Given the description of an element on the screen output the (x, y) to click on. 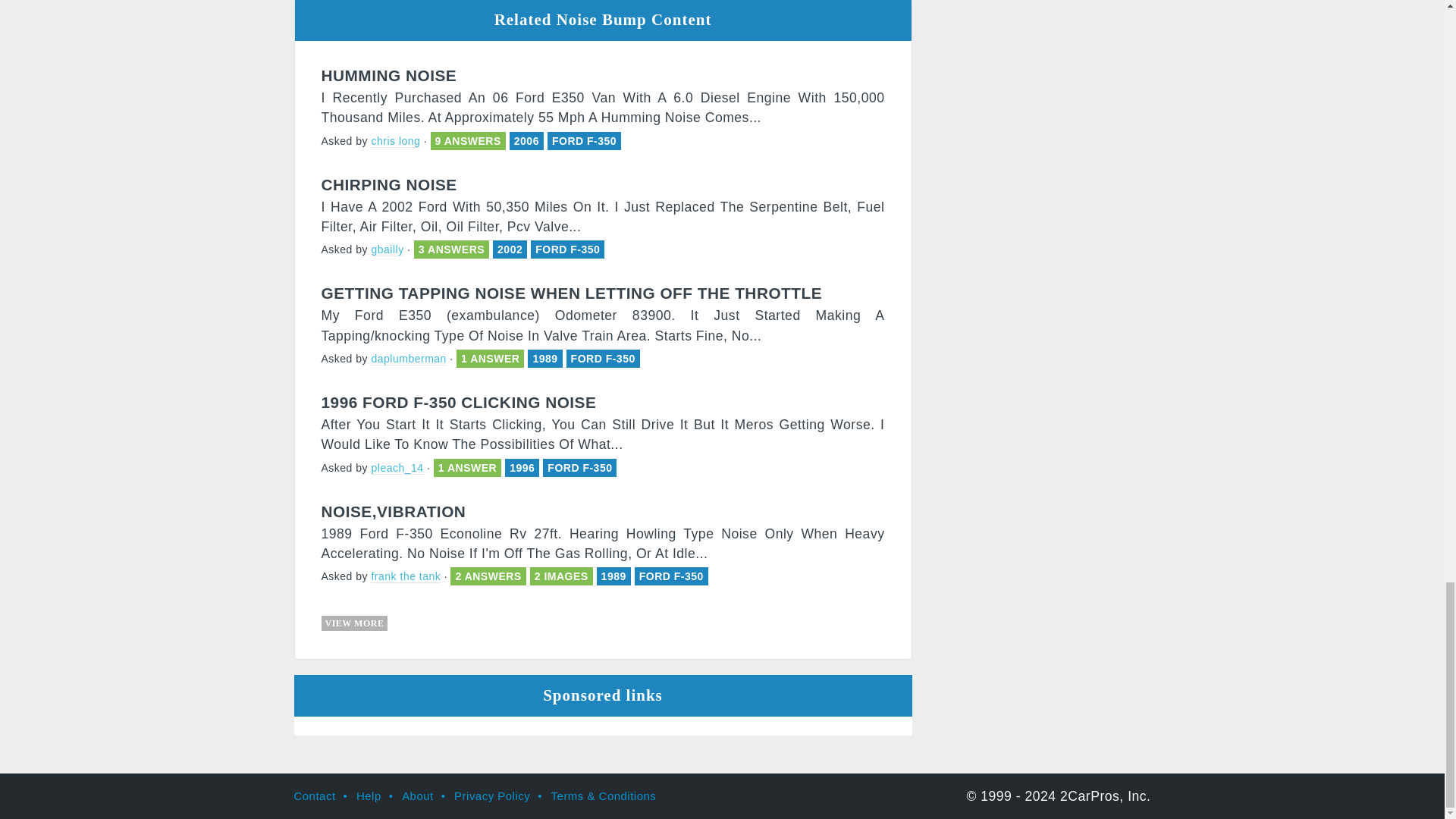
daplumberman (408, 358)
chris long (395, 141)
FORD F-350 (602, 358)
gbailly (387, 249)
FORD F-350 (583, 141)
FORD F-350 (567, 249)
